Given the description of an element on the screen output the (x, y) to click on. 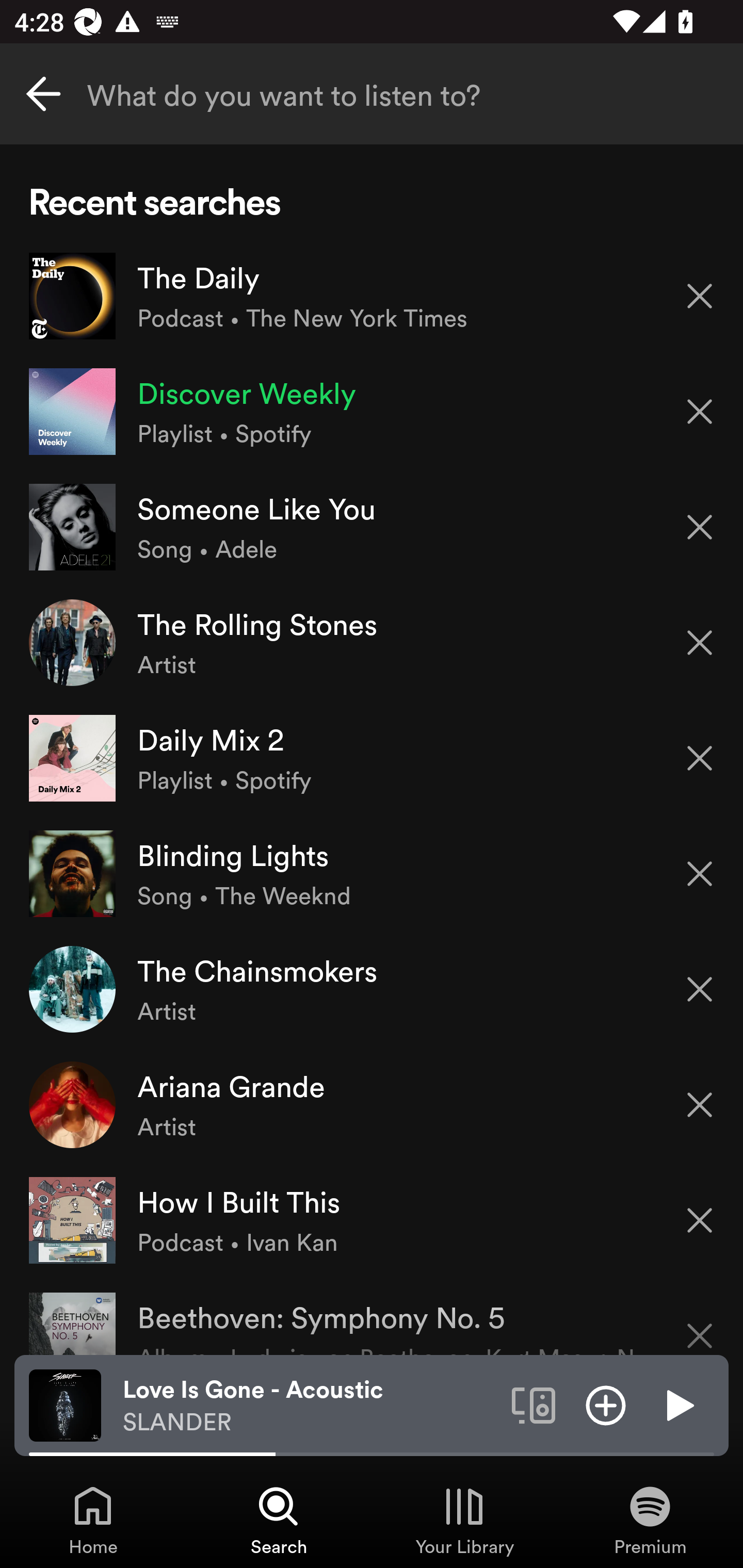
What do you want to listen to? (371, 93)
Cancel (43, 93)
The Daily Podcast • The New York Times Remove (371, 296)
Remove (699, 295)
Discover Weekly Playlist • Spotify Remove (371, 411)
Remove (699, 411)
Someone Like You Song • Adele Remove (371, 526)
Remove (699, 527)
The Rolling Stones Artist Remove (371, 642)
Remove (699, 642)
Daily Mix 2 Playlist • Spotify Remove (371, 757)
Remove (699, 758)
Blinding Lights Song • The Weeknd Remove (371, 873)
Remove (699, 874)
The Chainsmokers Artist Remove (371, 989)
Remove (699, 989)
Ariana Grande Artist Remove (371, 1104)
Remove (699, 1104)
How I Built This Podcast • Ivan Kan Remove (371, 1219)
Remove (699, 1220)
Remove (699, 1323)
Love Is Gone - Acoustic SLANDER (309, 1405)
The cover art of the currently playing track (64, 1404)
Connect to a device. Opens the devices menu (533, 1404)
Add item (605, 1404)
Play (677, 1404)
Home, Tab 1 of 4 Home Home (92, 1519)
Search, Tab 2 of 4 Search Search (278, 1519)
Your Library, Tab 3 of 4 Your Library Your Library (464, 1519)
Premium, Tab 4 of 4 Premium Premium (650, 1519)
